Given the description of an element on the screen output the (x, y) to click on. 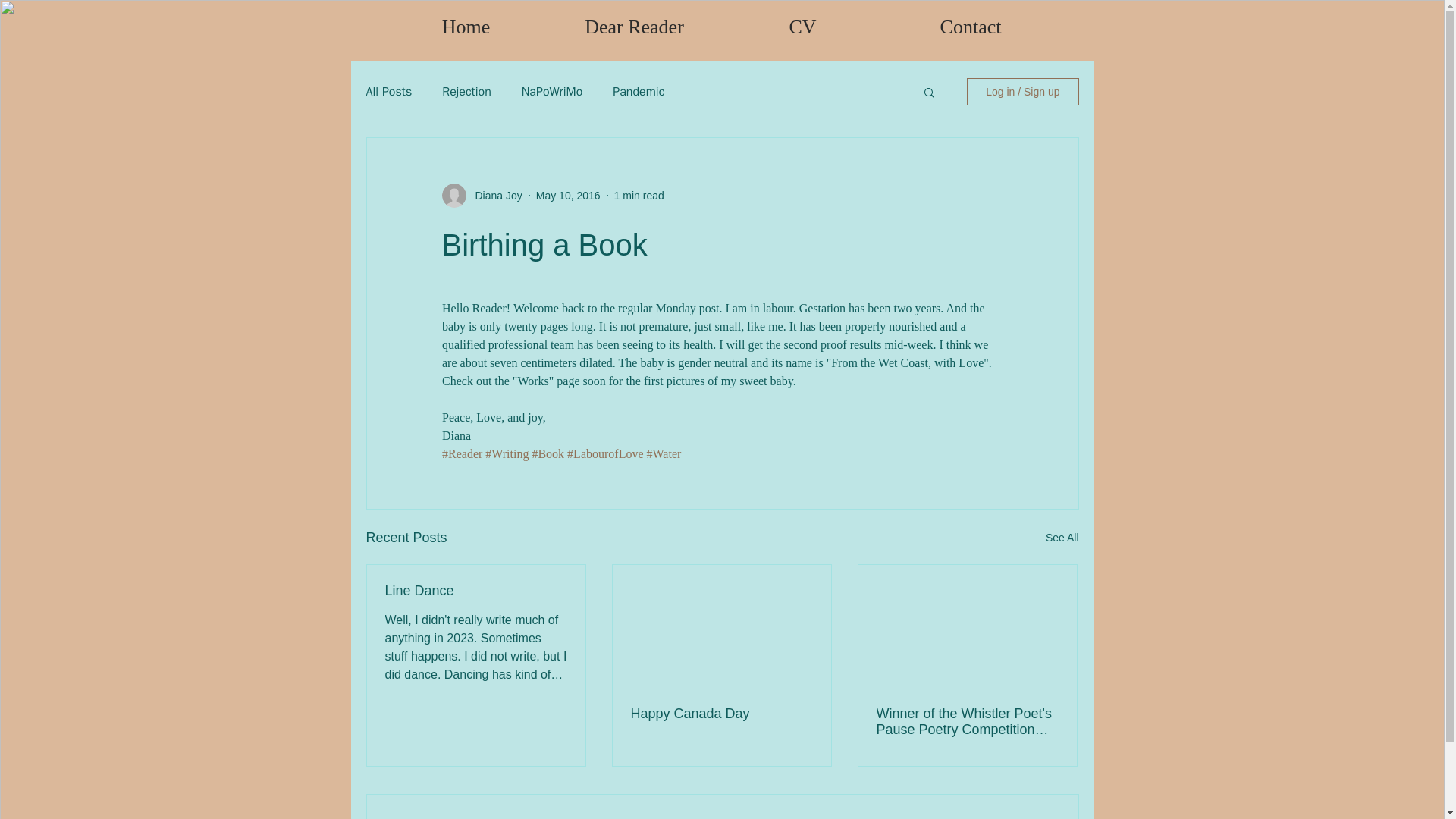
1 min read (638, 195)
NaPoWriMo (552, 91)
May 10, 2016 (567, 195)
Dear Reader (634, 26)
Contact (970, 26)
Diana Joy (493, 195)
Rejection (467, 91)
All Posts (388, 91)
Line Dance (476, 590)
Pandemic (637, 91)
Home (465, 26)
CV (802, 26)
Happy Canada Day (721, 713)
See All (1061, 537)
